Given the description of an element on the screen output the (x, y) to click on. 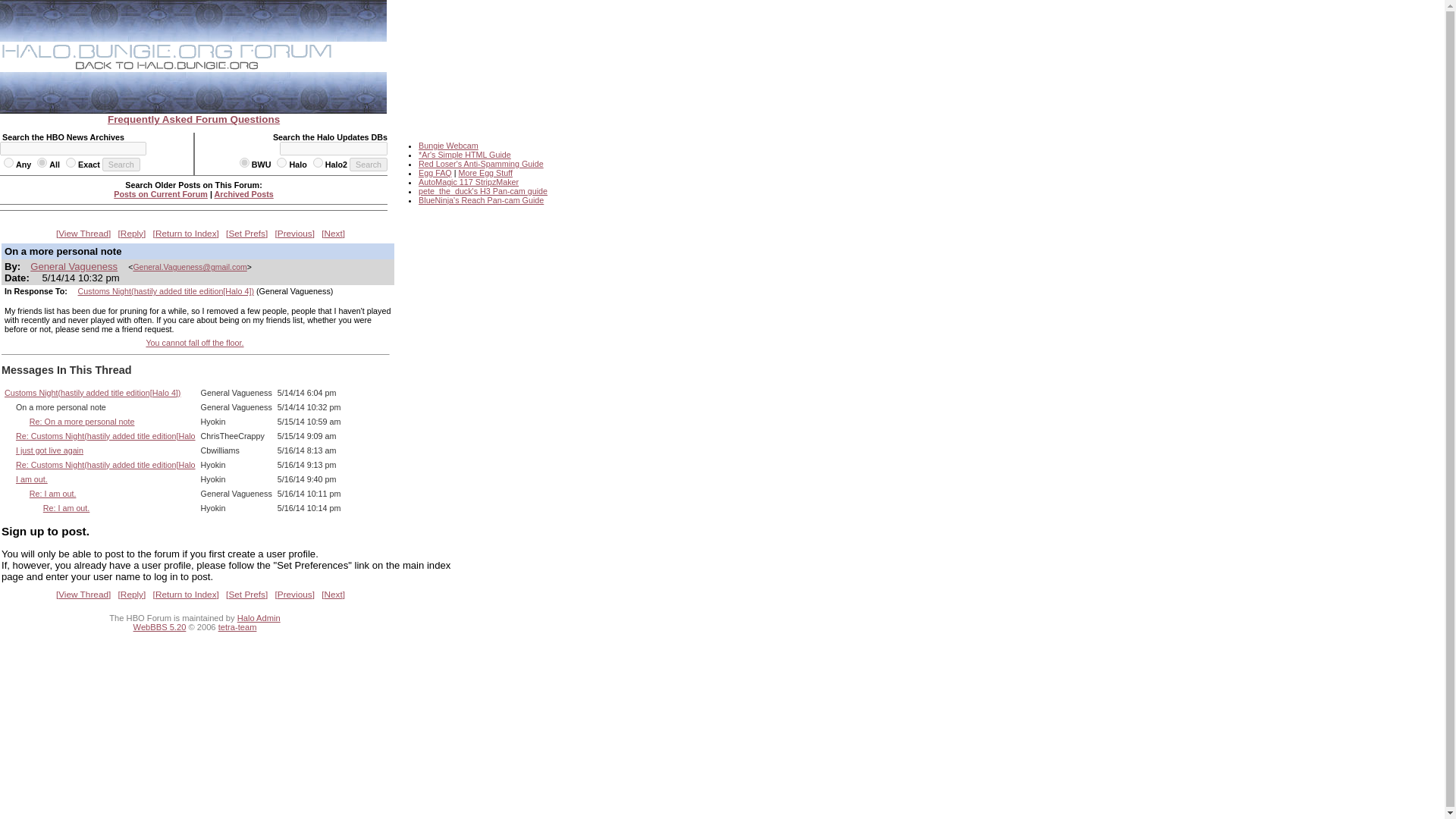
BlueNinja's Reach Pan-cam Guide (481, 199)
Previous (294, 232)
Re: I am out. (53, 492)
Posts on Current Forum (160, 194)
exact (70, 162)
You cannot fall off the floor. (194, 342)
Next (333, 232)
Reply (132, 232)
Search (368, 164)
Return to Index (185, 593)
all (41, 162)
Reply (132, 593)
AutoMagic 117 StripzMaker (468, 181)
Archived Posts (243, 194)
Return to Index (185, 232)
